Given the description of an element on the screen output the (x, y) to click on. 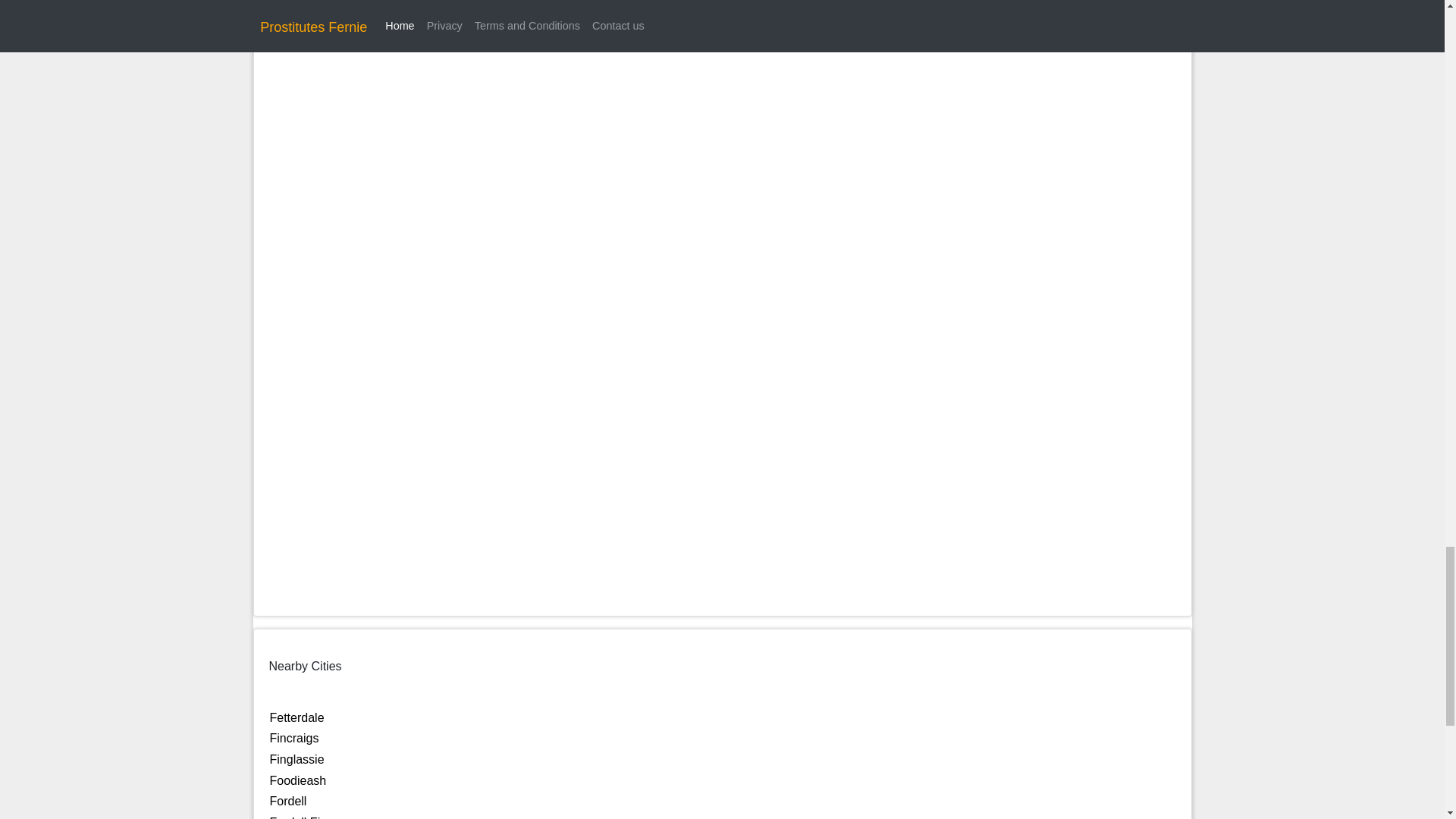
Foodieash (297, 780)
Fordell (288, 800)
Fetterdale (296, 717)
Finglassie (296, 758)
Fordell Firs (299, 817)
Fincraigs (293, 738)
